Given the description of an element on the screen output the (x, y) to click on. 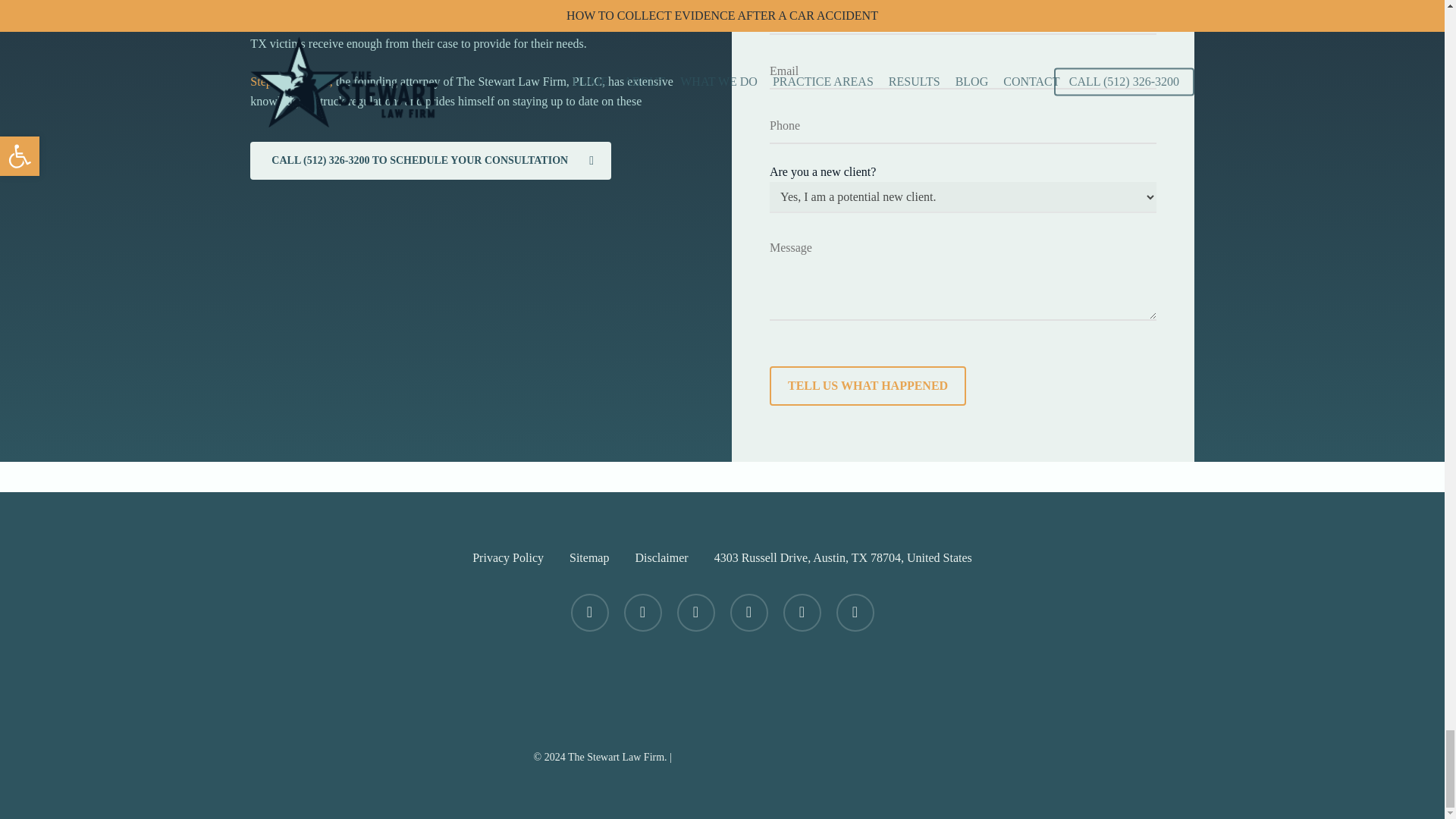
Tell us what happened (868, 385)
